Given the description of an element on the screen output the (x, y) to click on. 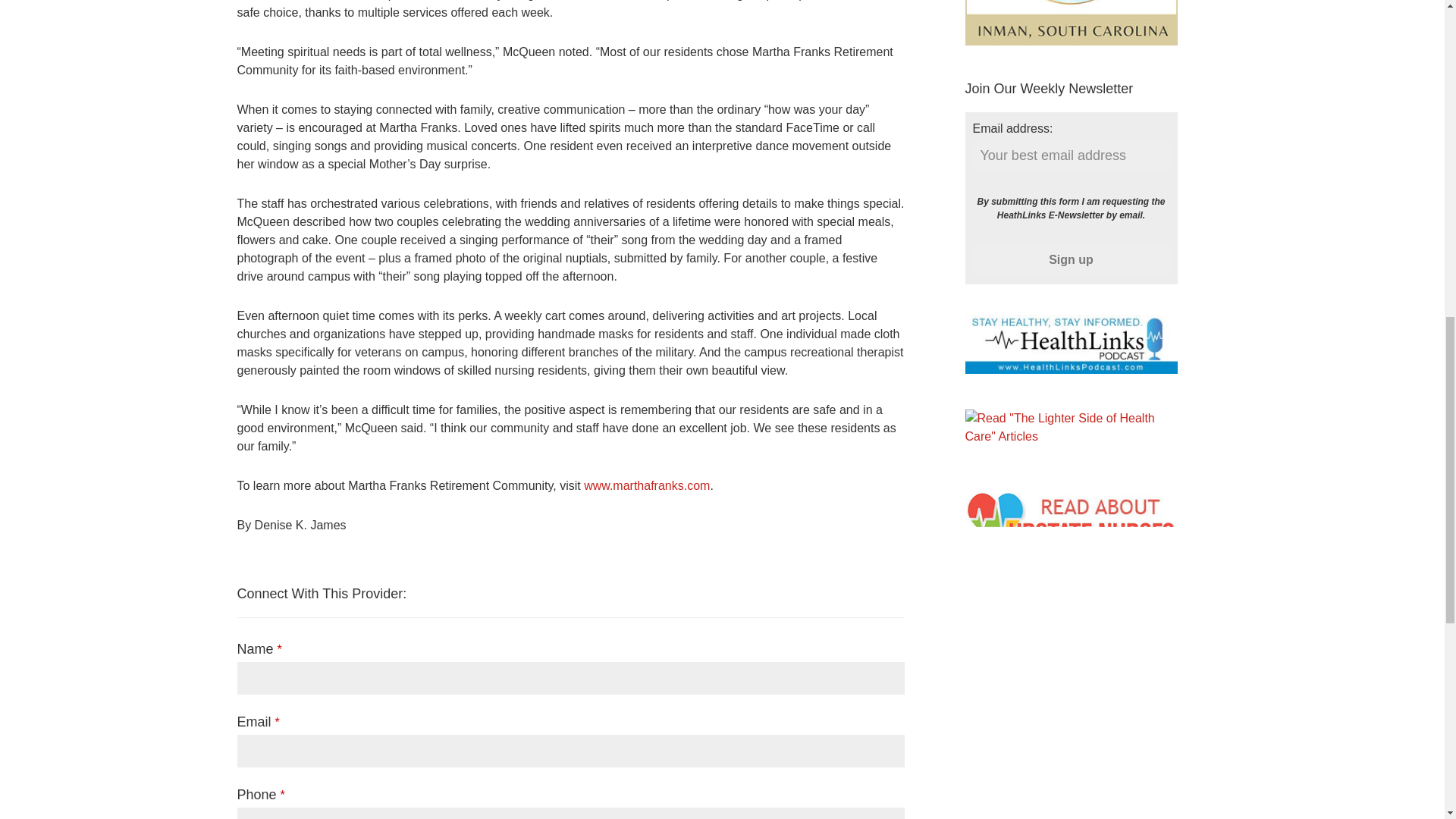
Sign up (1070, 259)
Sign up (1070, 259)
www.marthafranks.com (646, 485)
